Given the description of an element on the screen output the (x, y) to click on. 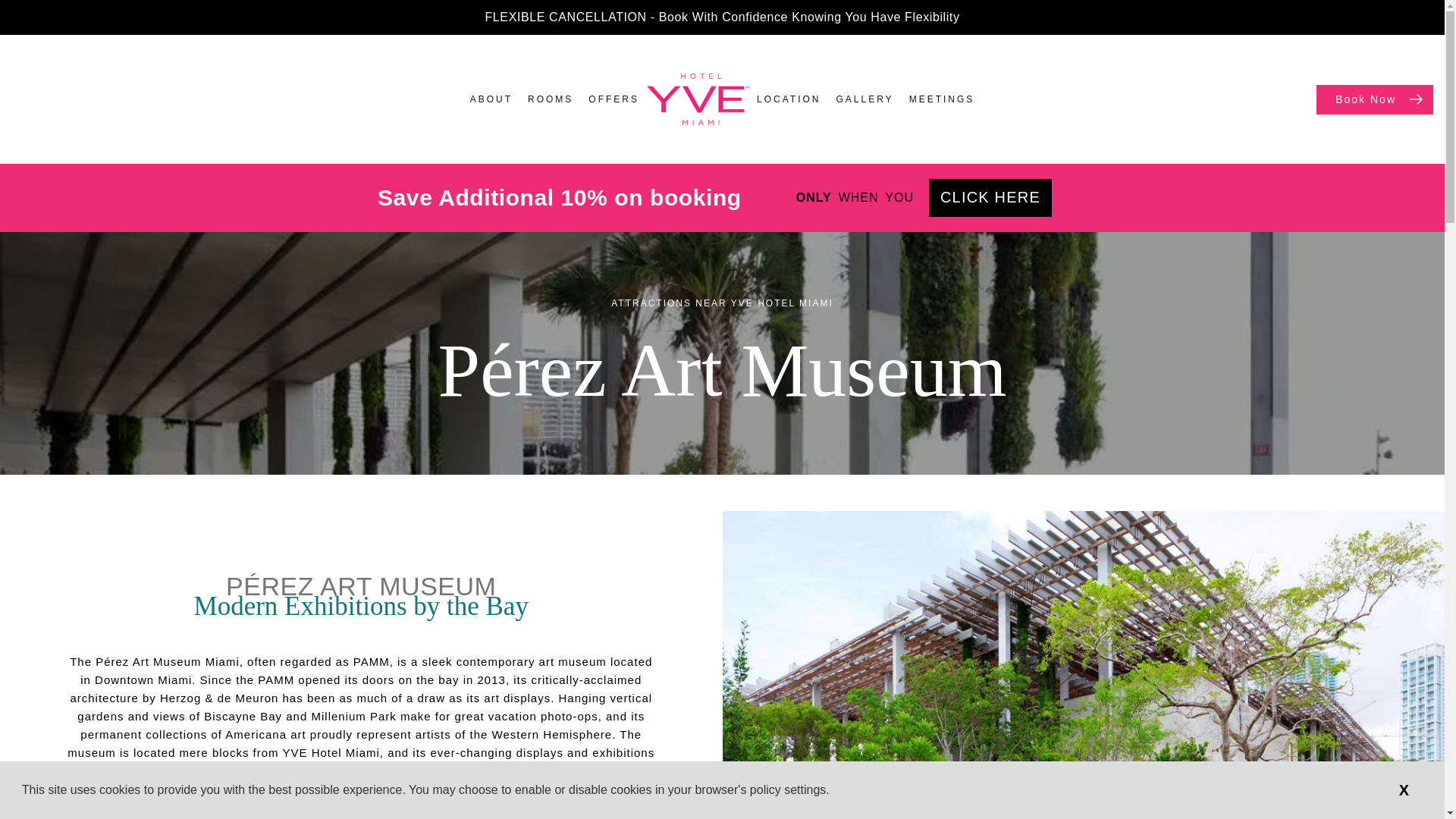
GALLERY (864, 99)
MEETINGS (941, 99)
CLICK HERE (989, 198)
Book Now (1374, 99)
dismiss cookie message (1404, 789)
X (1404, 789)
LOCATION (788, 99)
